Given the description of an element on the screen output the (x, y) to click on. 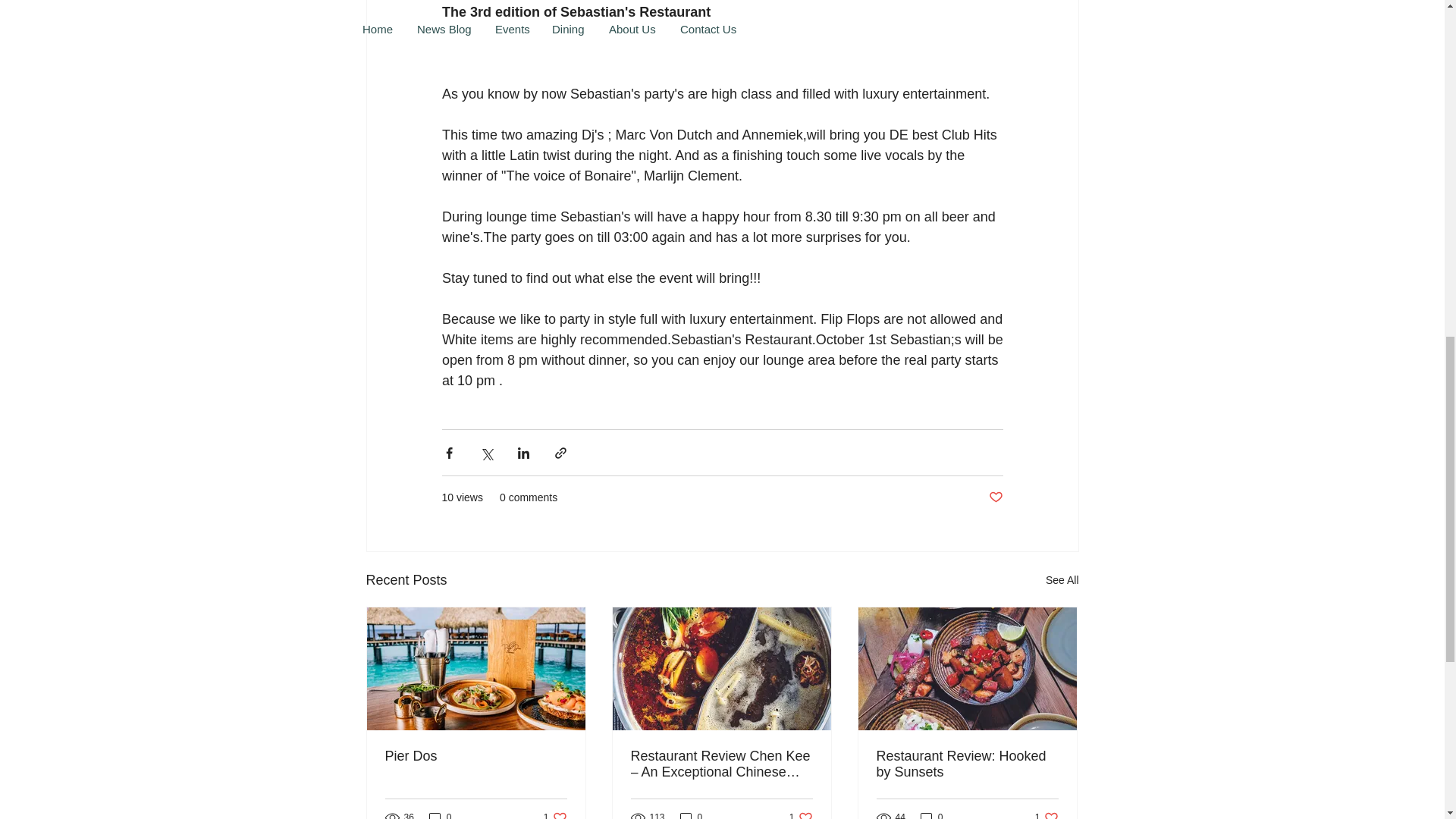
0 (931, 814)
Restaurant Review: Hooked by Sunsets (800, 814)
Post not marked as liked (555, 814)
0 (967, 764)
Pier Dos (1046, 814)
See All (995, 497)
0 (691, 814)
